Given the description of an element on the screen output the (x, y) to click on. 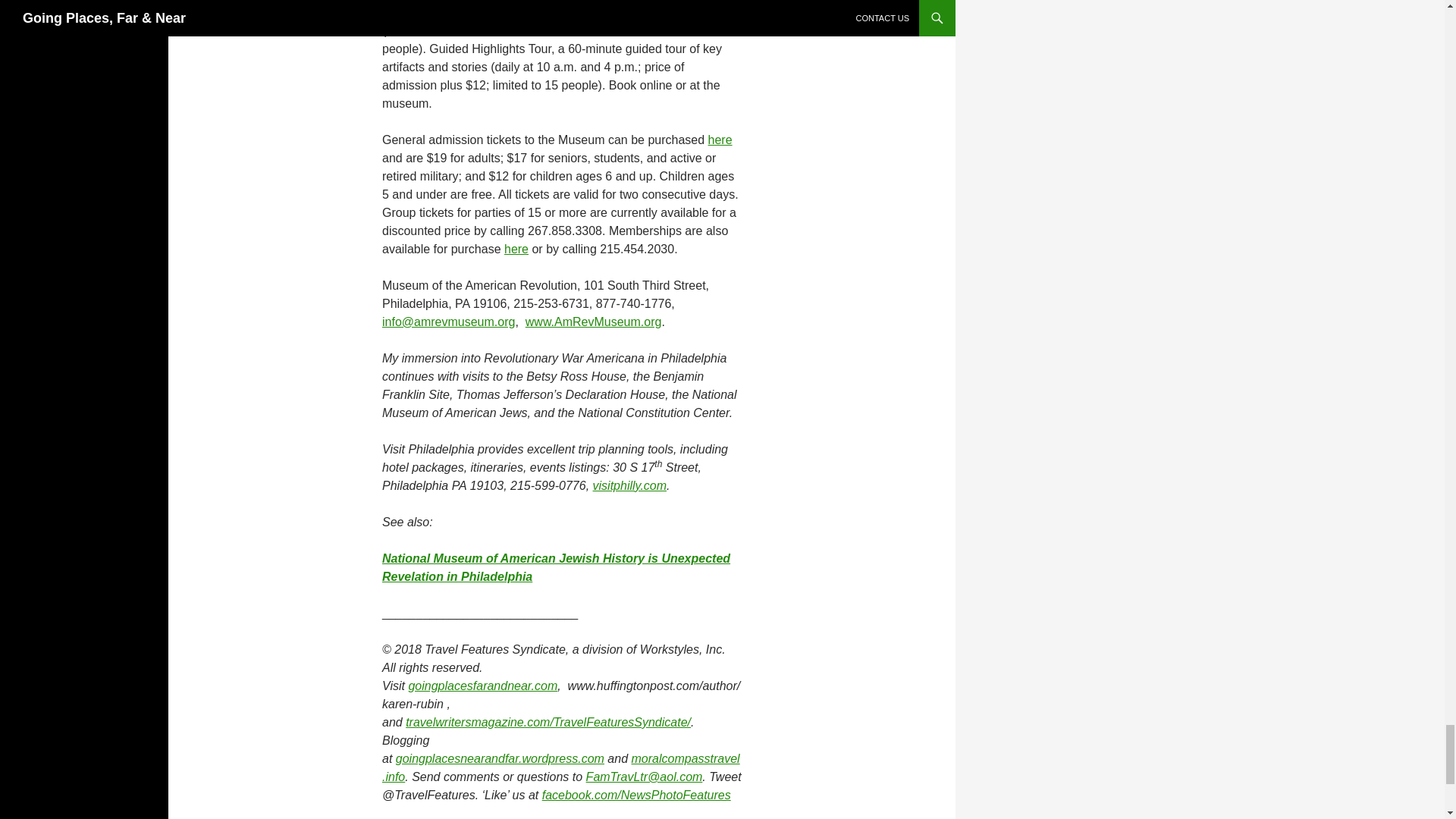
www.AmRevMuseum.org (593, 321)
goingplacesfarandnear.com (482, 685)
here (719, 139)
here (515, 248)
moralcompasstravel.info (560, 767)
visitphilly.com (629, 485)
goingplacesnearandfar.wordpress.com (500, 758)
